Given the description of an element on the screen output the (x, y) to click on. 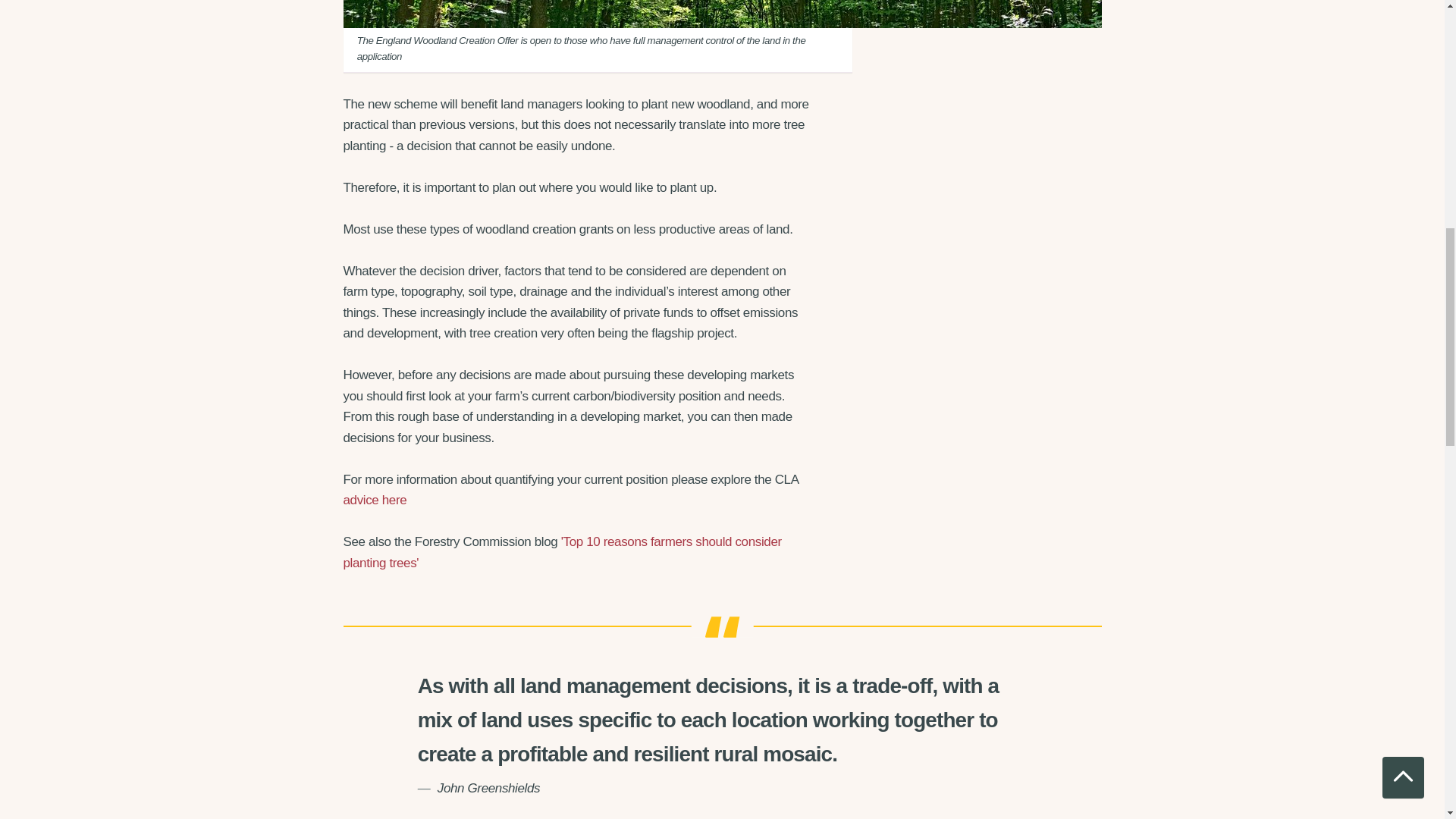
advice here (374, 499)
'Top 10 reasons farmers should consider planting trees' (561, 552)
